Given the description of an element on the screen output the (x, y) to click on. 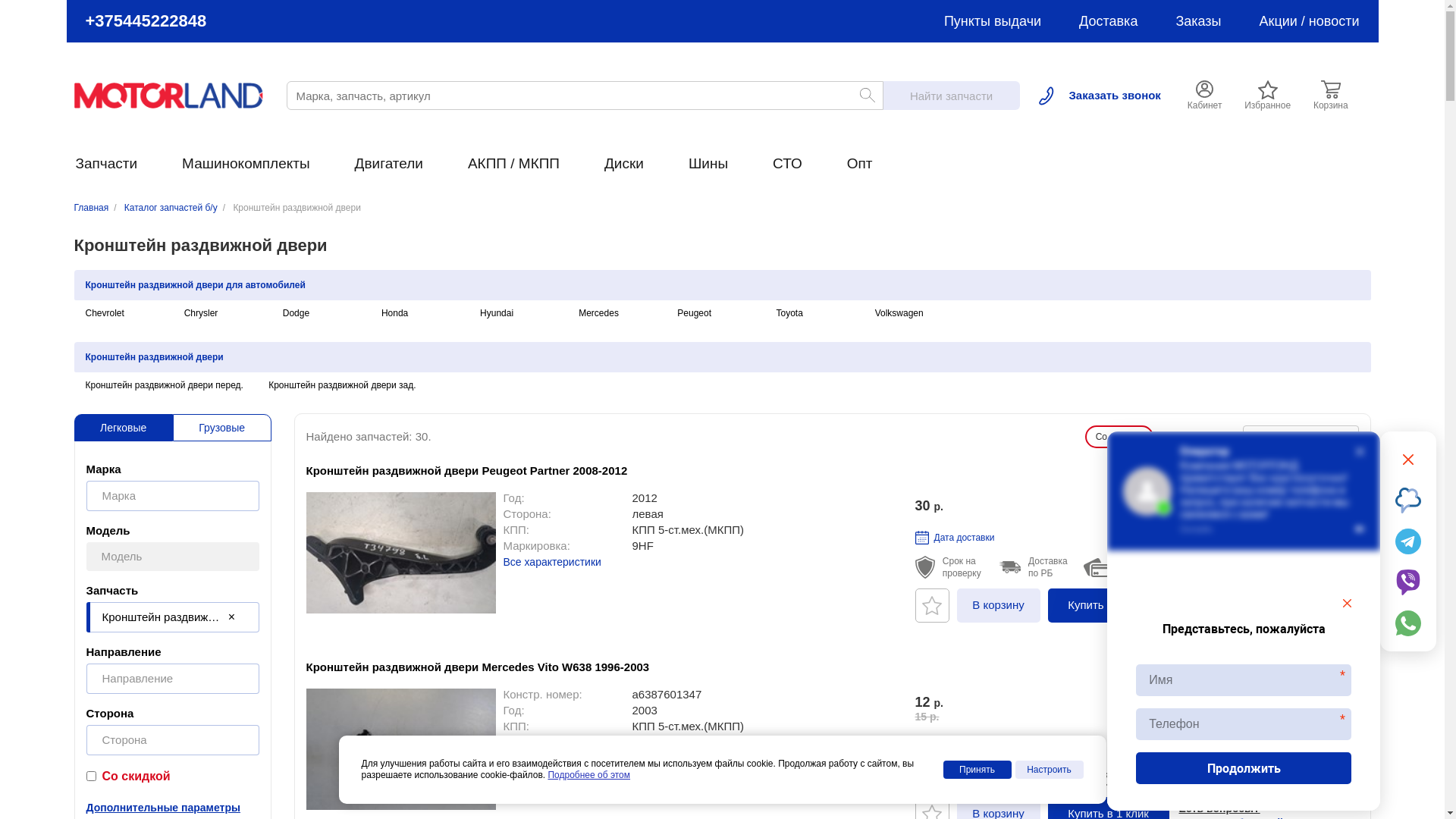
+375445222848 Element type: text (145, 21)
Volkswagen Element type: text (899, 312)
Toyota Element type: text (788, 312)
Honda Element type: text (394, 312)
Chrysler Element type: text (201, 312)
Dodge Element type: text (295, 312)
Peugeot Element type: text (694, 312)
Hyundai Element type: text (496, 312)
Mercedes Element type: text (598, 312)
Chevrolet Element type: text (103, 312)
